Given the description of an element on the screen output the (x, y) to click on. 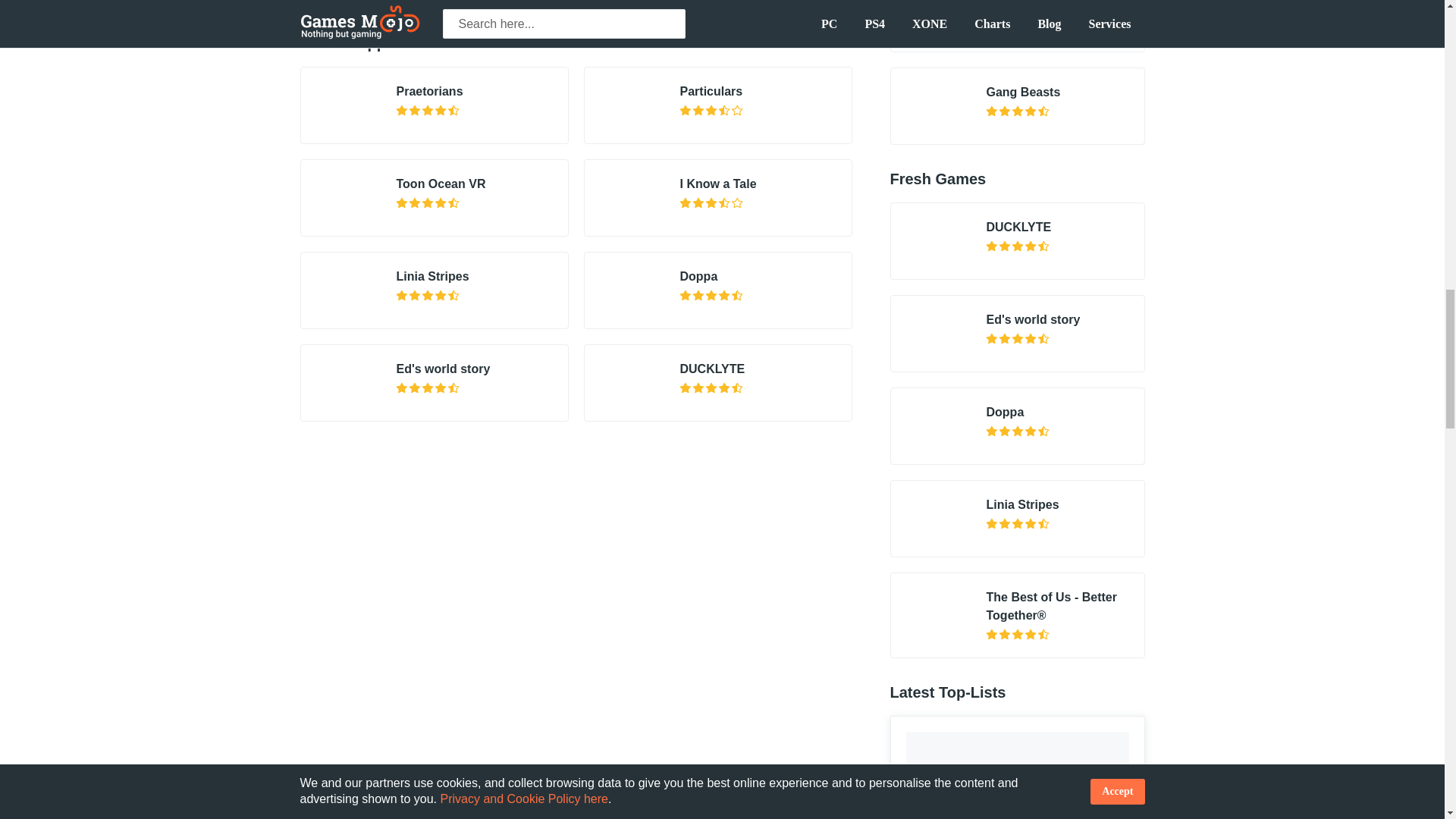
Linia Stripes (432, 276)
User rating 4.38 (429, 110)
User rating 4.8 (712, 295)
Praetorians (429, 91)
User rating 4.8 (429, 202)
User rating 3.38 (712, 202)
User rating 4.4 (429, 387)
User rating 3.69 (712, 110)
User rating 4.9 (429, 295)
I Know a Tale (717, 184)
Particulars (710, 91)
Toon Ocean VR (440, 184)
User rating 4.6 (712, 387)
